Given the description of an element on the screen output the (x, y) to click on. 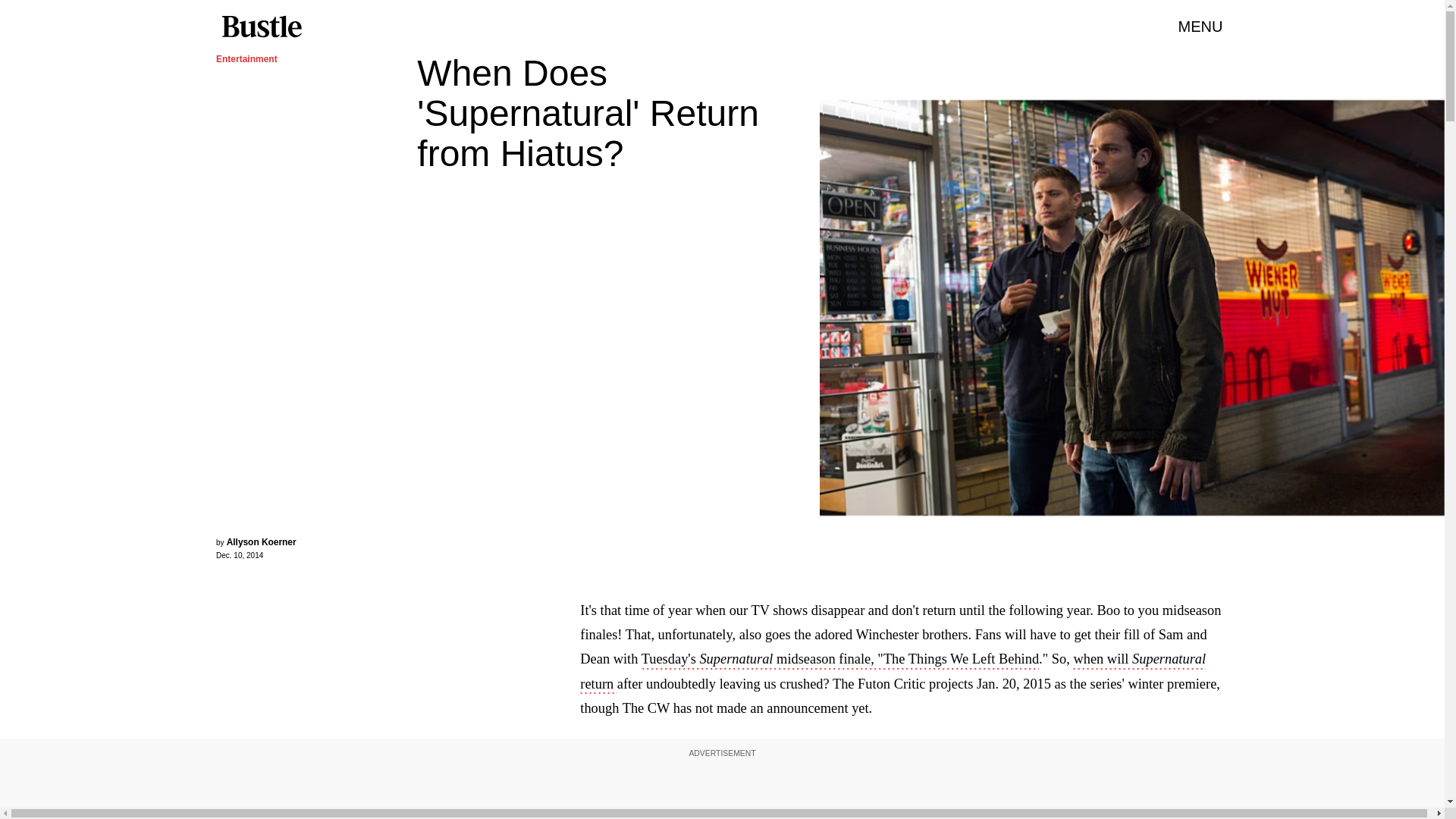
when will Supernatural return (892, 672)
Allyson Koerner (262, 542)
Bustle (261, 26)
